Given the description of an element on the screen output the (x, y) to click on. 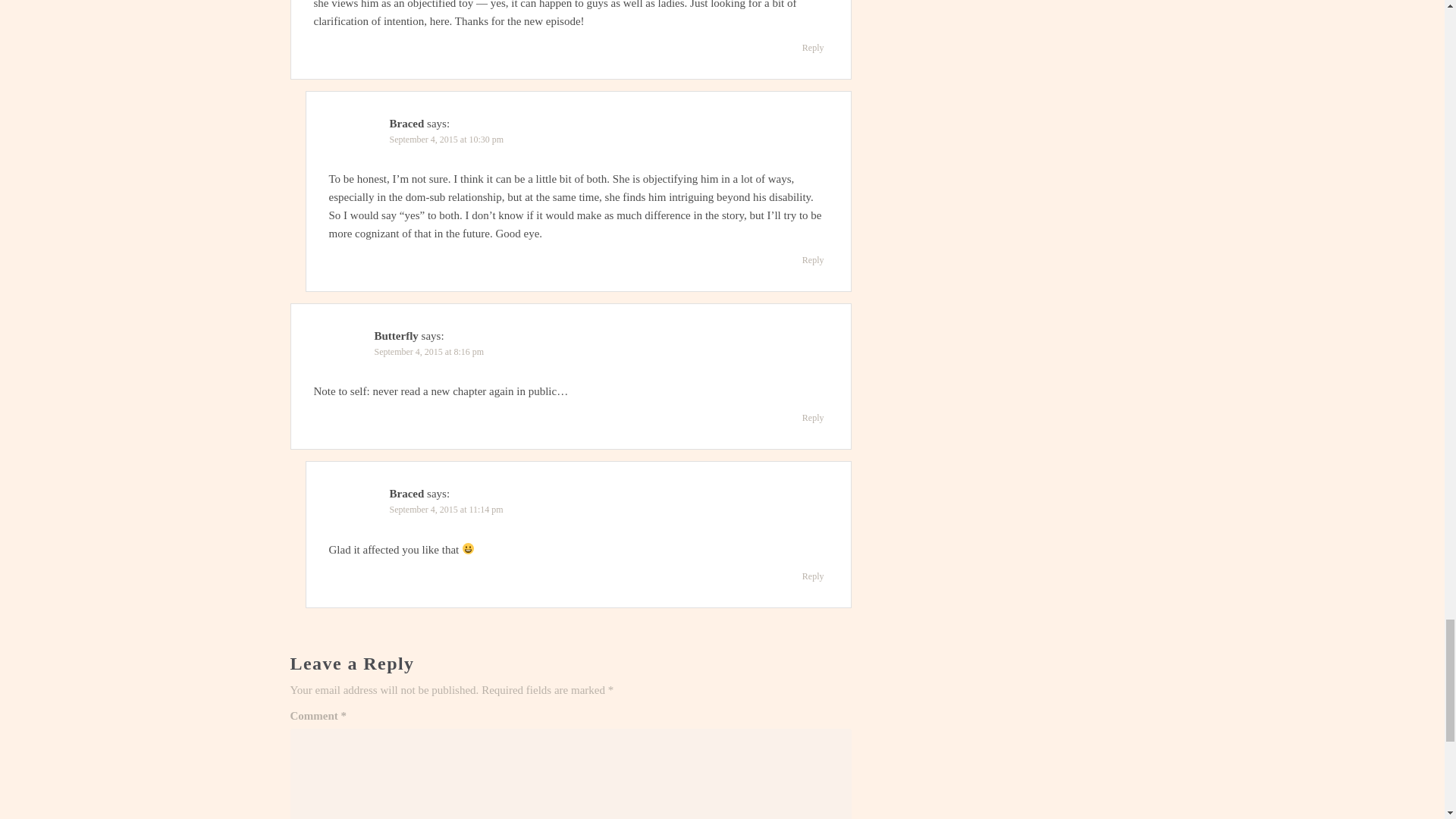
Reply (812, 47)
September 4, 2015 at 11:14 pm (446, 509)
Reply (812, 576)
Reply (812, 259)
September 4, 2015 at 8:16 pm (429, 351)
Reply (812, 417)
September 4, 2015 at 10:30 pm (446, 139)
